Given the description of an element on the screen output the (x, y) to click on. 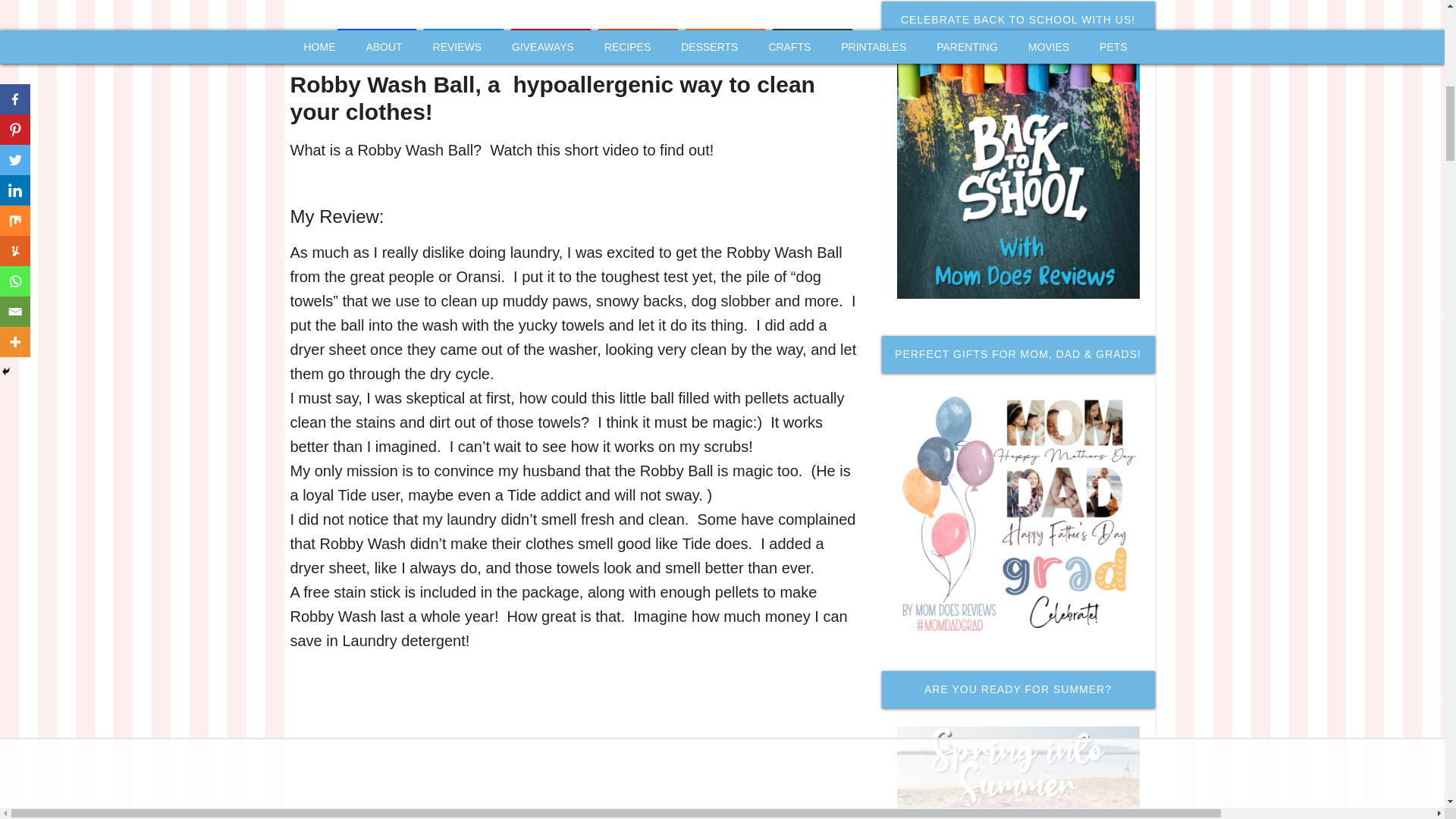
Facebook (376, 41)
